Given the description of an element on the screen output the (x, y) to click on. 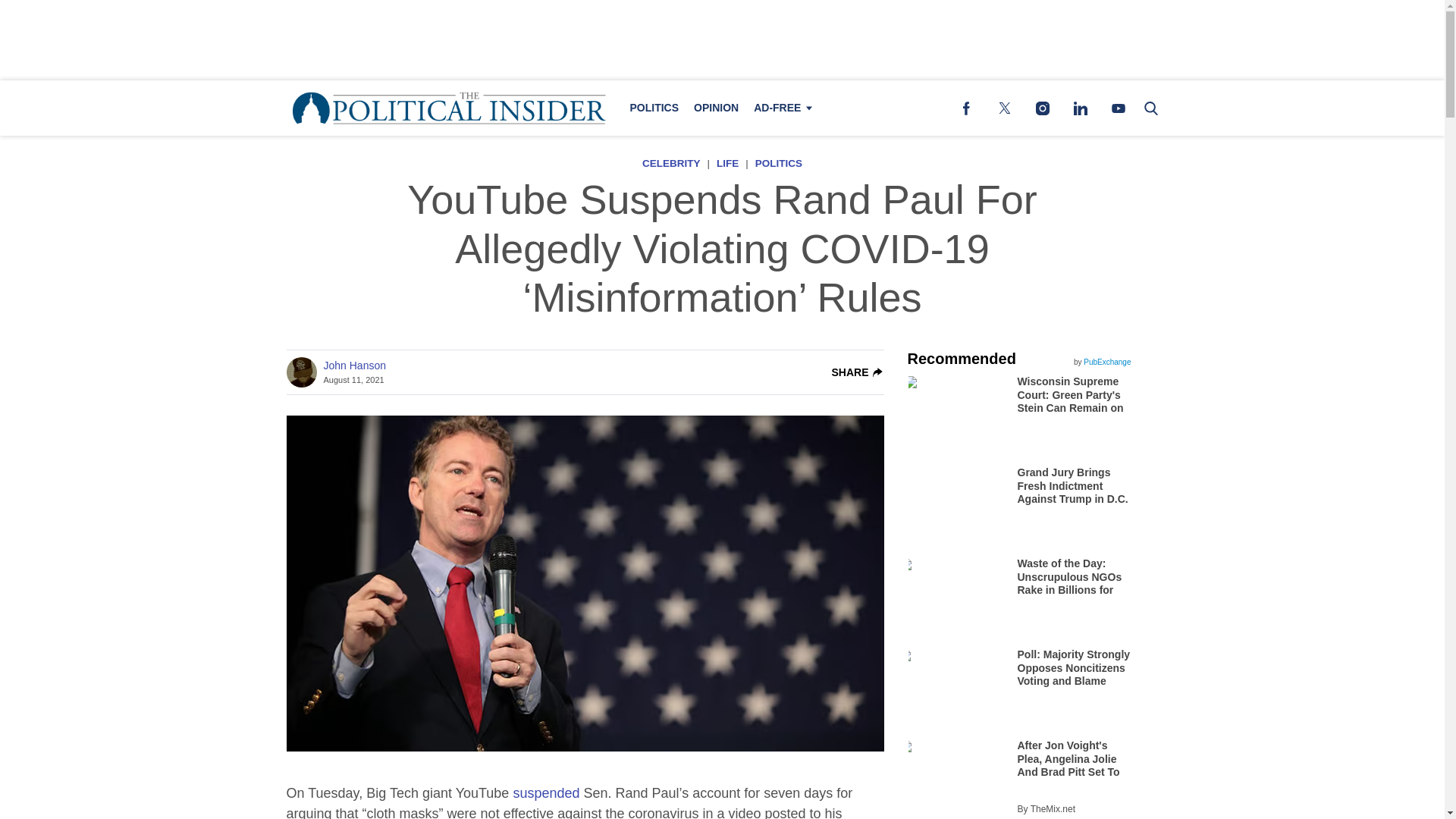
John Hanson (354, 365)
Posts by John Hanson (354, 365)
suspended (545, 792)
OPINION (715, 107)
LIFE (727, 163)
AD-FREE (780, 107)
POLITICS (778, 163)
CELEBRITY (671, 163)
POLITICS (653, 107)
